Given the description of an element on the screen output the (x, y) to click on. 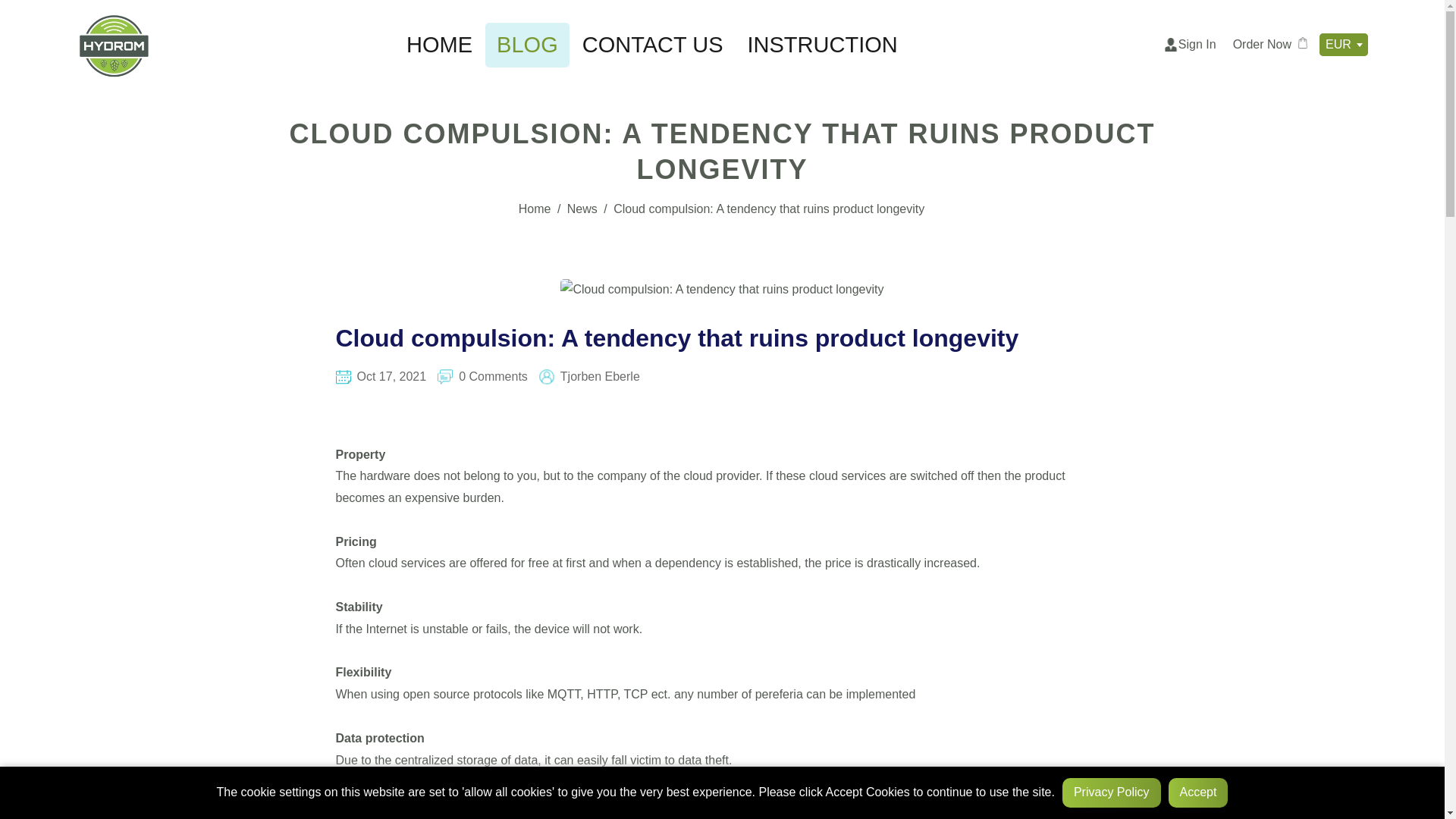
Cloud compulsion: A tendency that ruins product longevity (675, 338)
Sign In (1187, 44)
Order Now (1271, 44)
Privacy Policy (1111, 792)
INSTRUCTION (822, 44)
Home (535, 209)
News (582, 209)
CONTACT US (652, 44)
HOME (438, 44)
BLOG (526, 44)
